Given the description of an element on the screen output the (x, y) to click on. 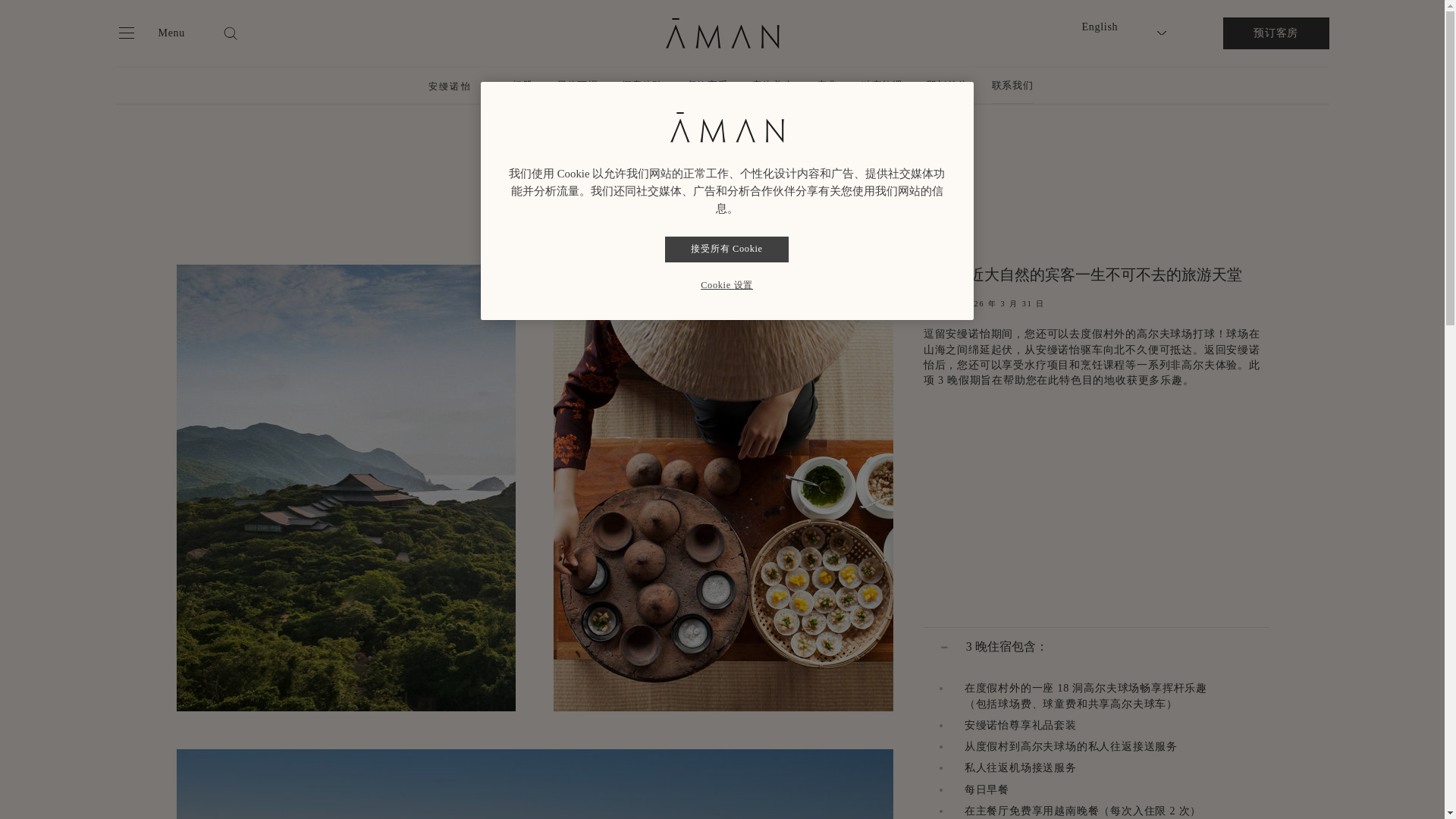
English (1130, 27)
Menu (149, 33)
Aman resorts (721, 33)
